Given the description of an element on the screen output the (x, y) to click on. 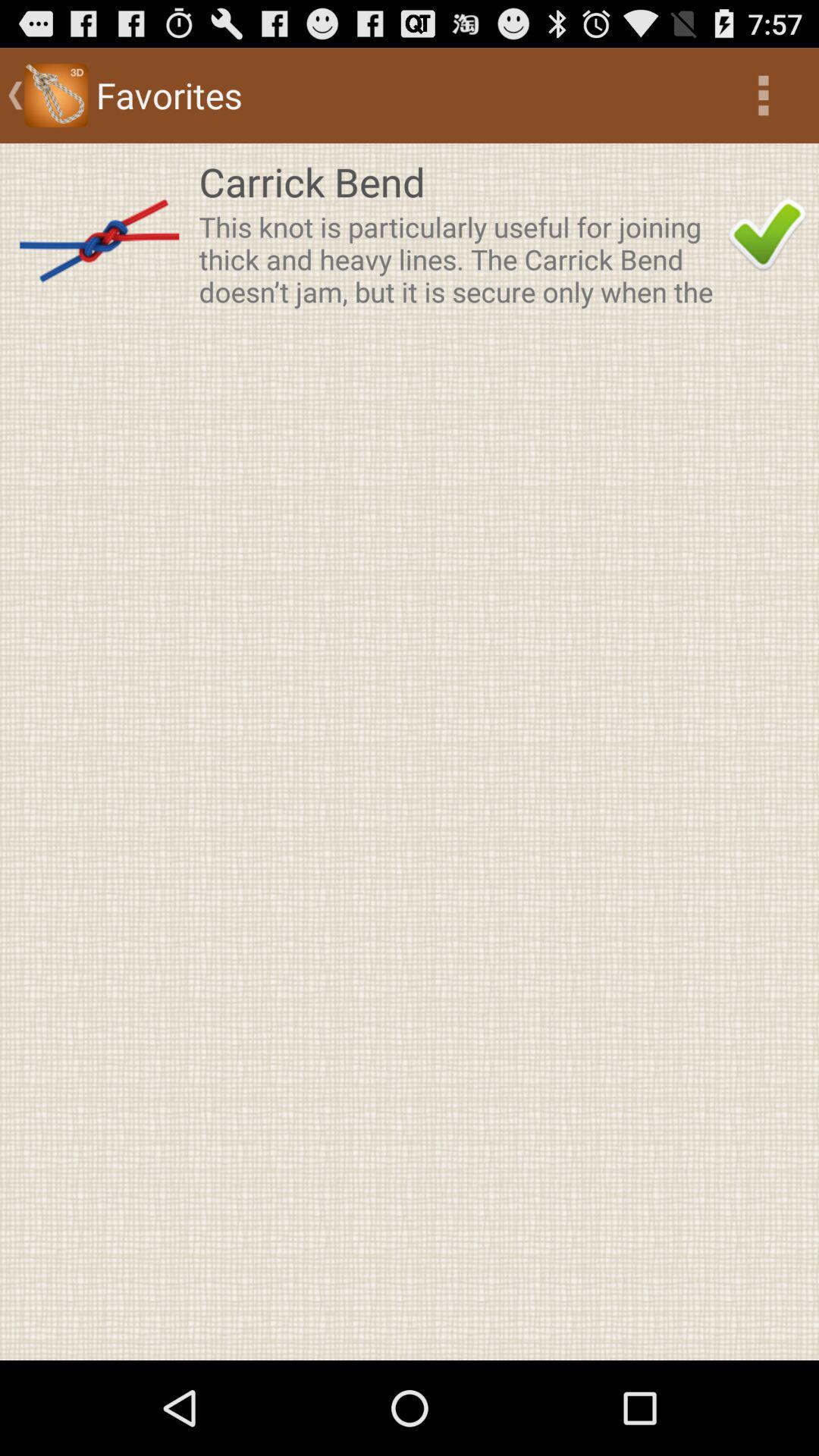
press the item next to the carrick bend (99, 234)
